Given the description of an element on the screen output the (x, y) to click on. 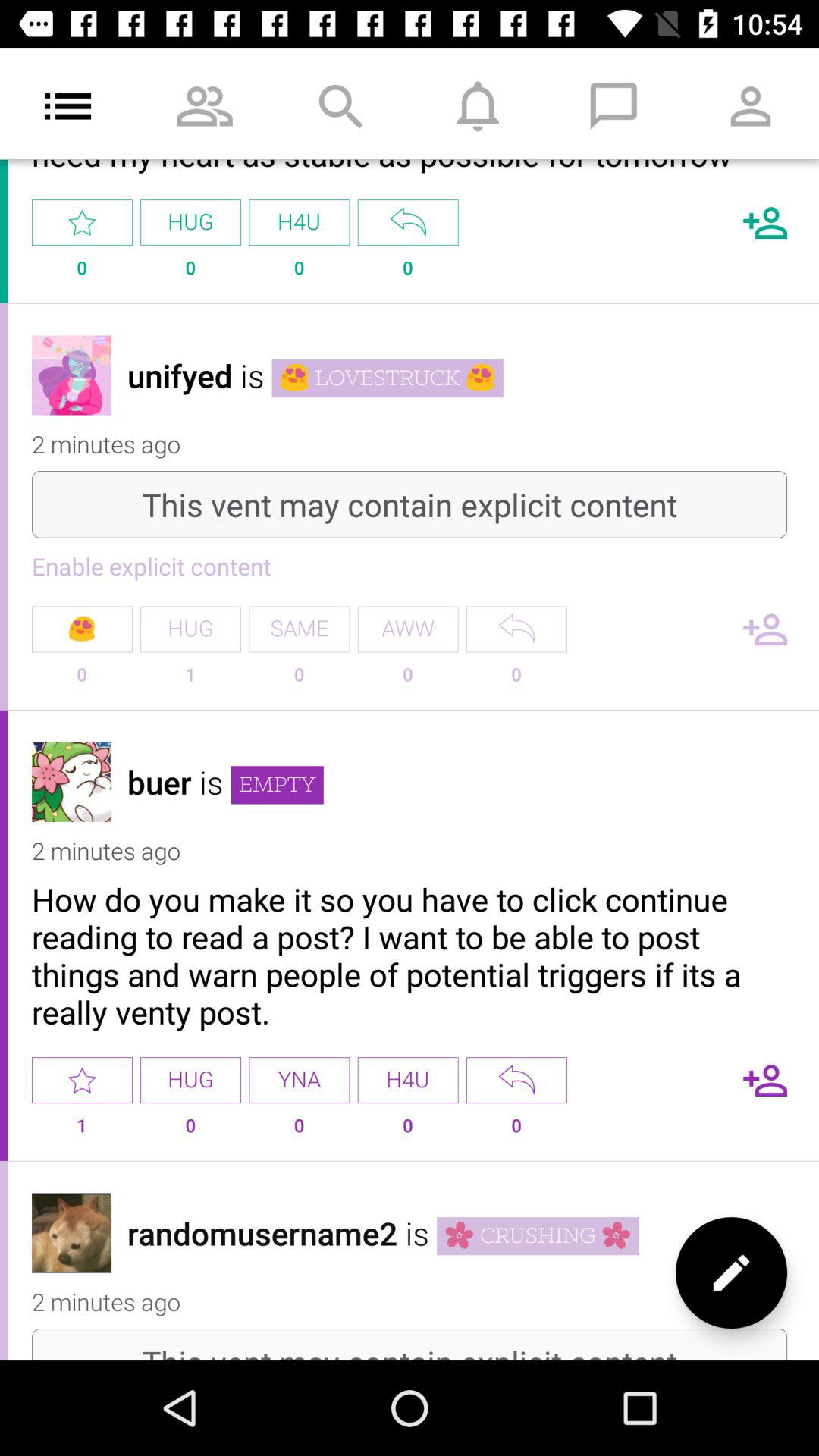
choose the icon next to the is item (276, 785)
